Given the description of an element on the screen output the (x, y) to click on. 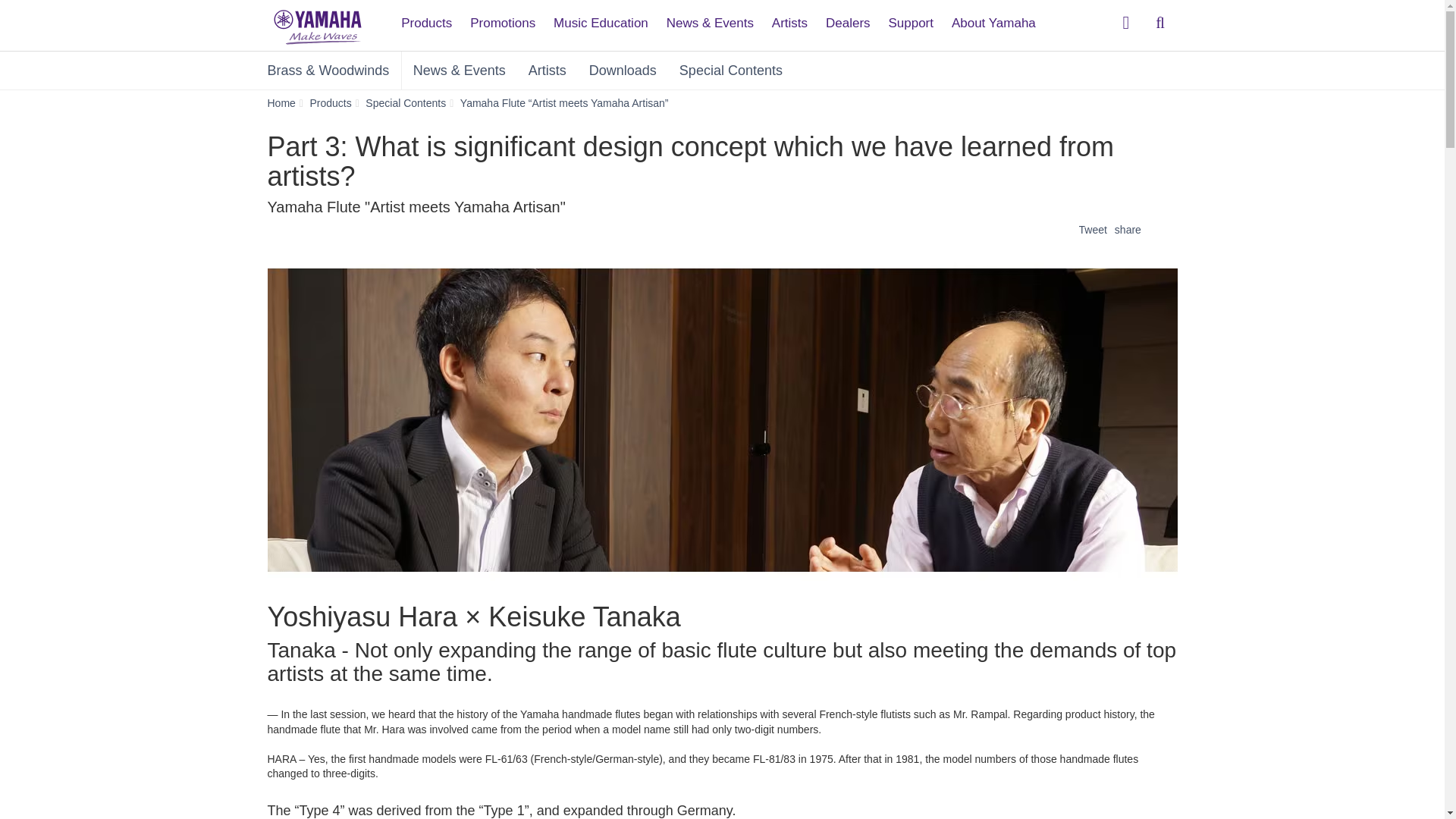
Dealers (847, 17)
Support (910, 17)
Music Education (601, 17)
search (1160, 23)
Promotions (503, 17)
Artists (789, 17)
About Yamaha (993, 17)
Products (426, 17)
